Given the description of an element on the screen output the (x, y) to click on. 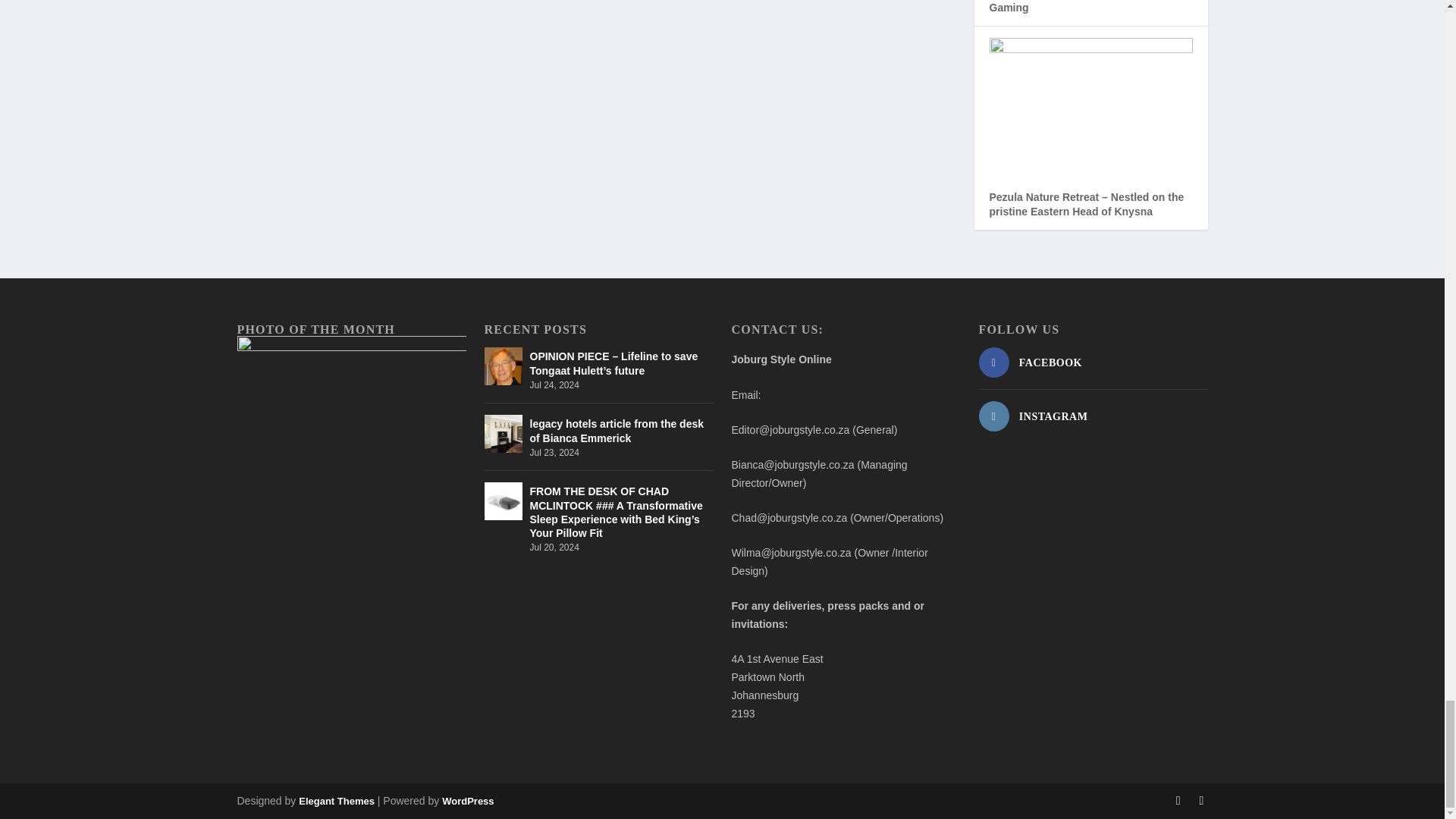
Photo of the Week (350, 410)
